Given the description of an element on the screen output the (x, y) to click on. 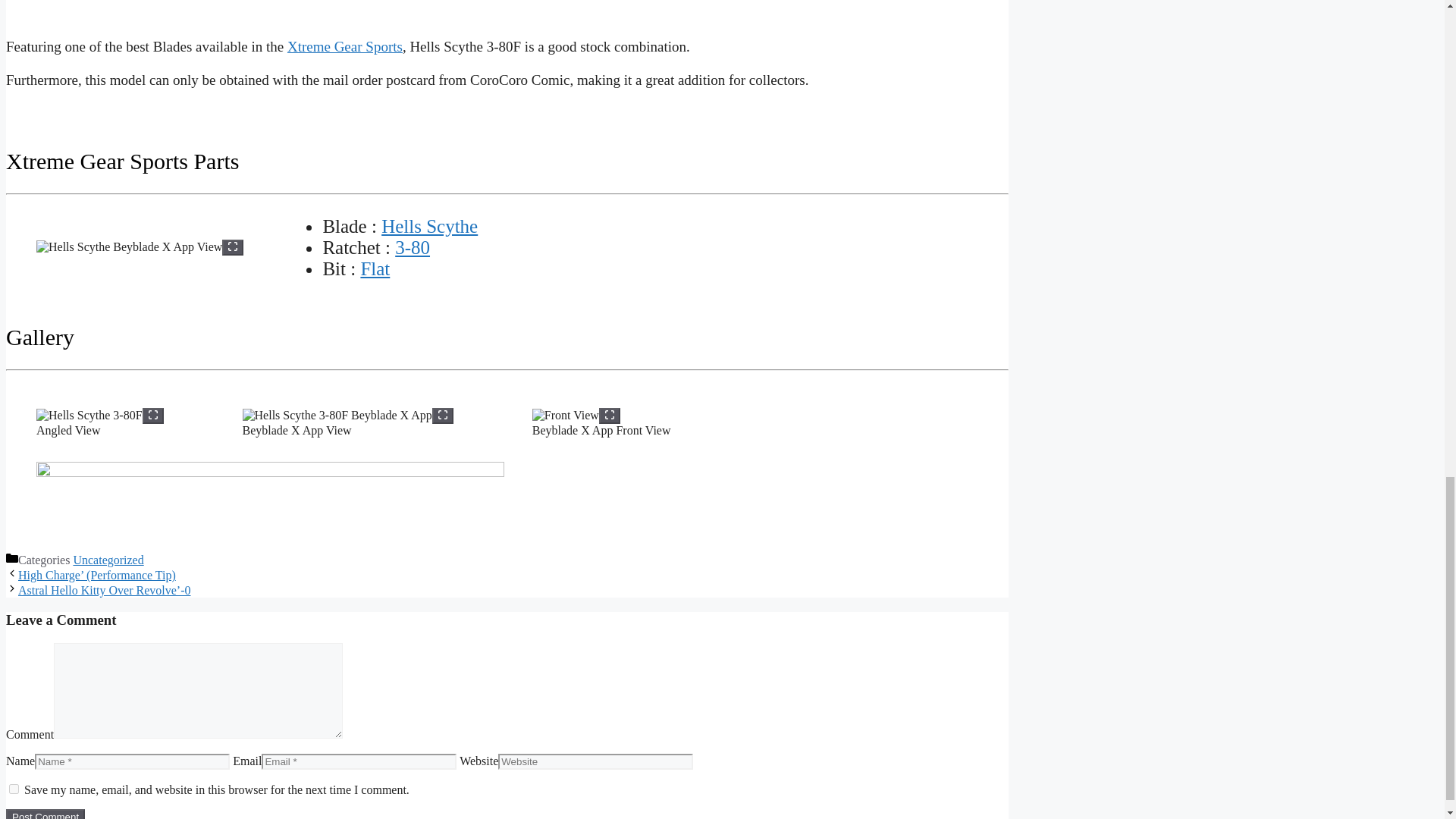
3-80 (411, 247)
Flat (374, 268)
Hells Scythe (429, 226)
Uncategorized (107, 559)
Xtreme Gear Sports (344, 46)
yes (13, 788)
